Given the description of an element on the screen output the (x, y) to click on. 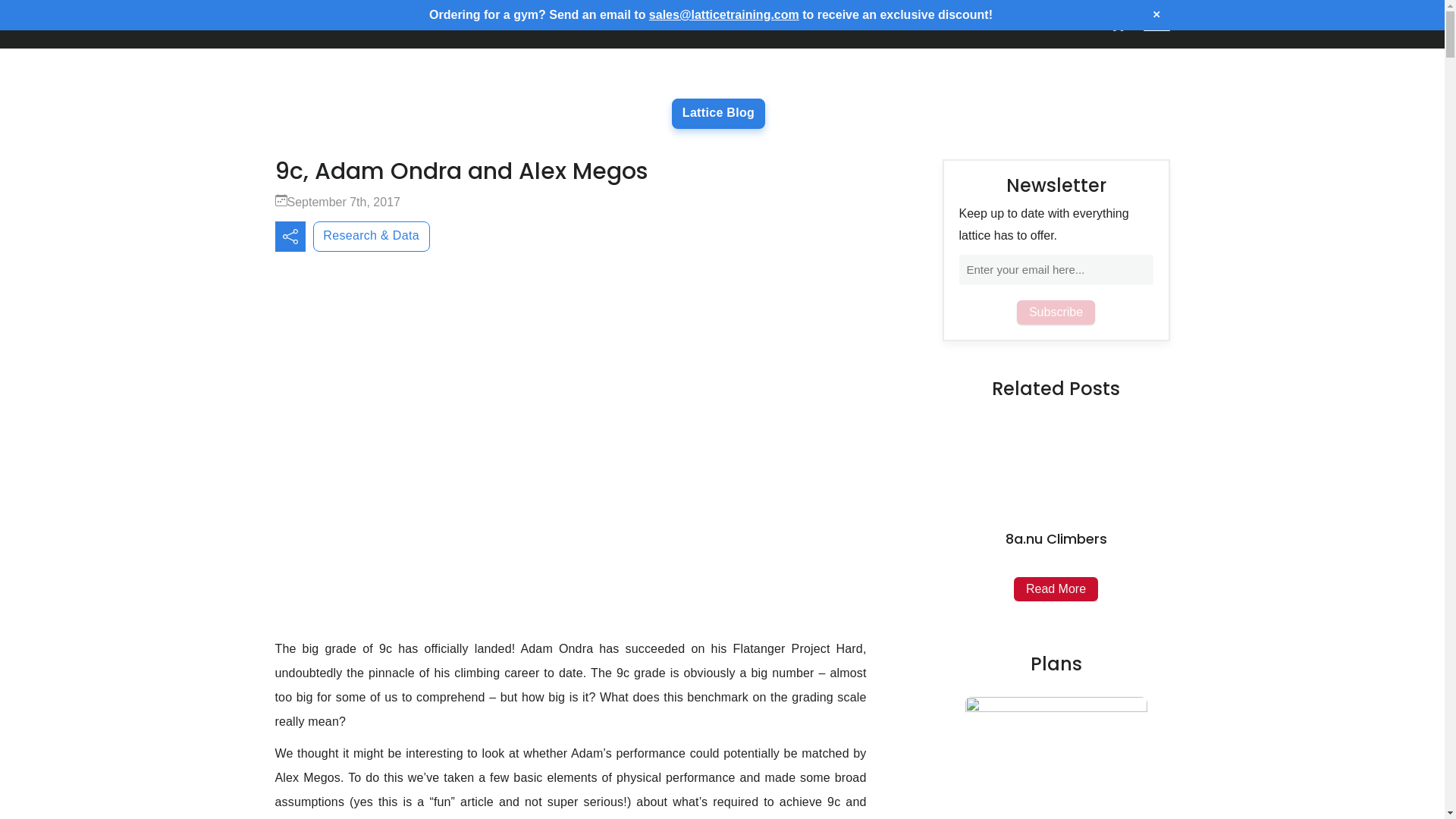
Subscribe (1055, 312)
